Given the description of an element on the screen output the (x, y) to click on. 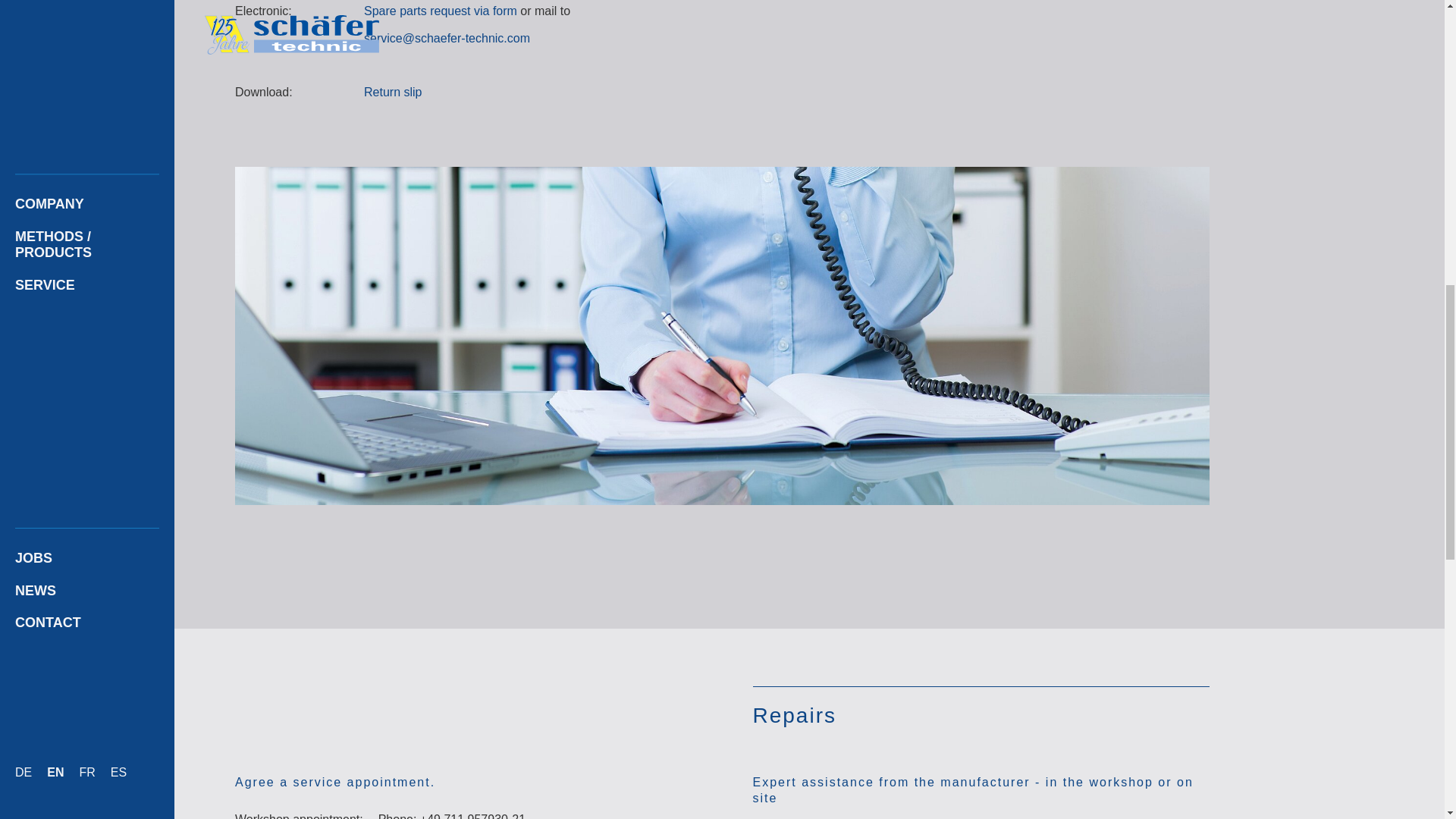
Spare parts request via form (440, 10)
Return slip (393, 91)
